Given the description of an element on the screen output the (x, y) to click on. 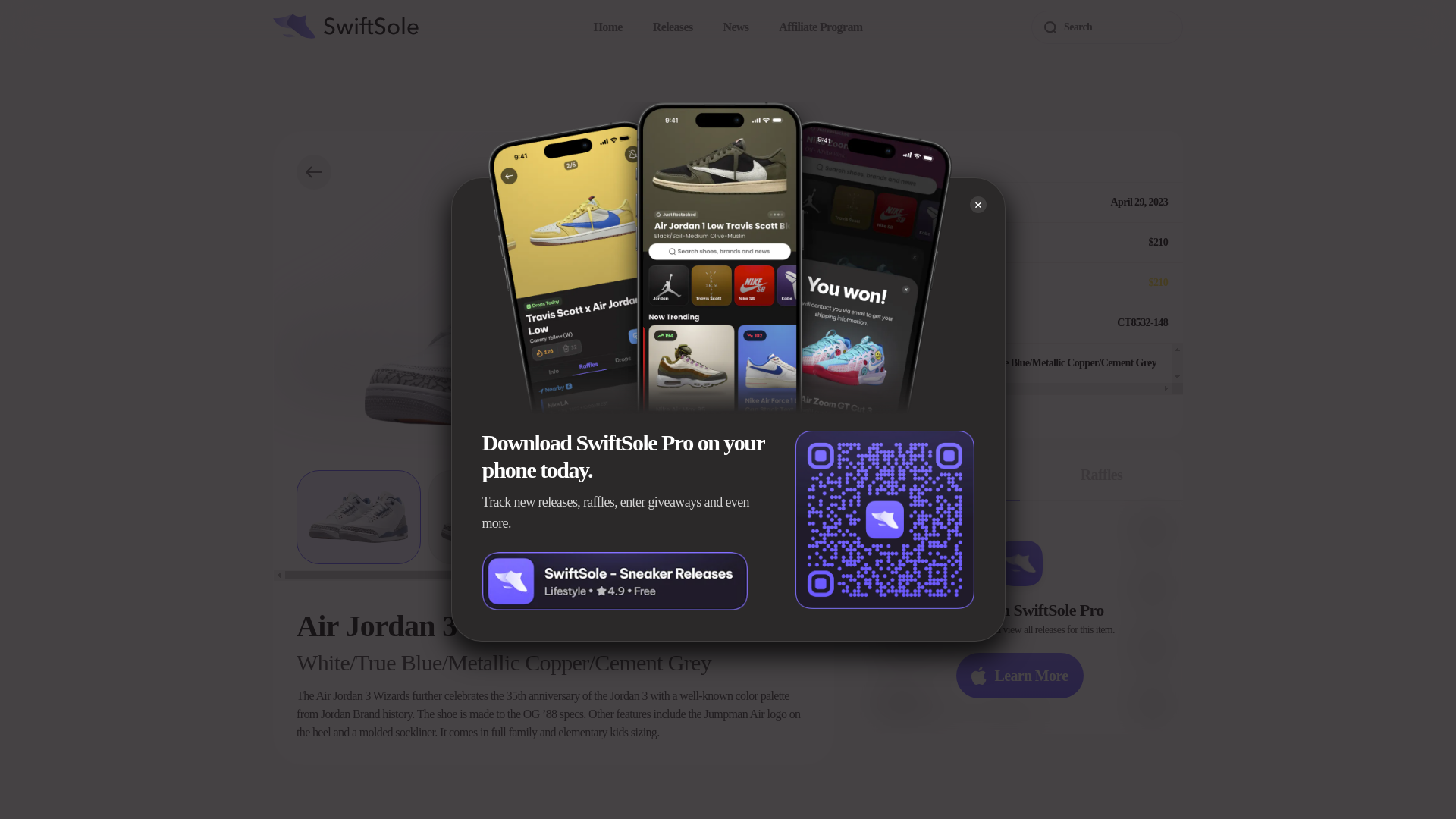
Learn More (1019, 675)
Affiliate Program (819, 26)
Home (608, 26)
News (735, 26)
Search (1106, 27)
Raffles (1101, 475)
Releases (672, 26)
Drops (938, 475)
